Given the description of an element on the screen output the (x, y) to click on. 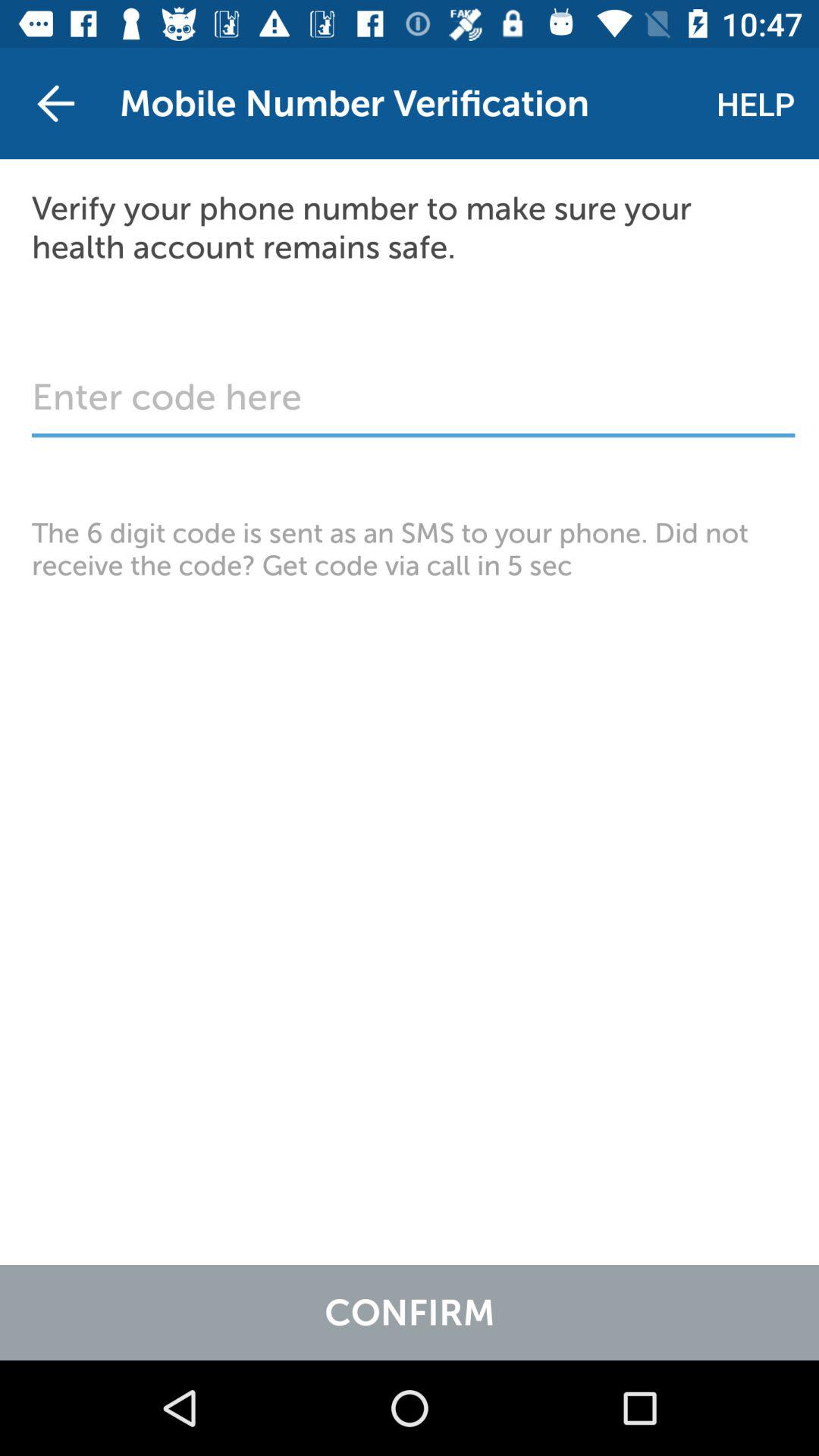
launch item at the top left corner (55, 103)
